Given the description of an element on the screen output the (x, y) to click on. 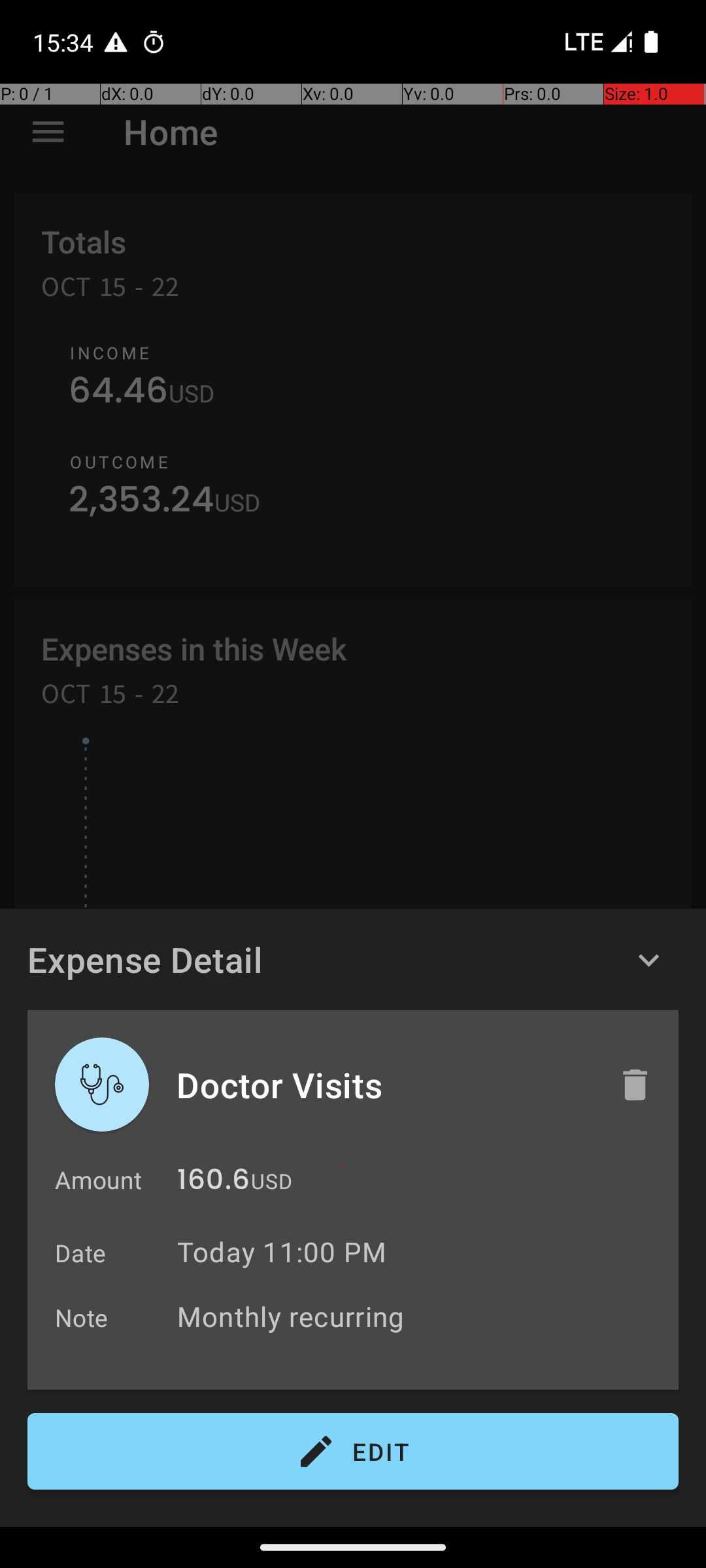
Expense Detail Element type: android.widget.TextView (145, 959)
Doctor Visits Element type: android.widget.TextView (383, 1084)
160.6 Element type: android.widget.TextView (213, 1182)
Date Element type: android.widget.TextView (80, 1252)
Today 11:00 PM Element type: android.widget.TextView (281, 1251)
Monthly recurring Element type: android.widget.TextView (420, 1315)
EDIT Element type: android.widget.Button (352, 1451)
